Given the description of an element on the screen output the (x, y) to click on. 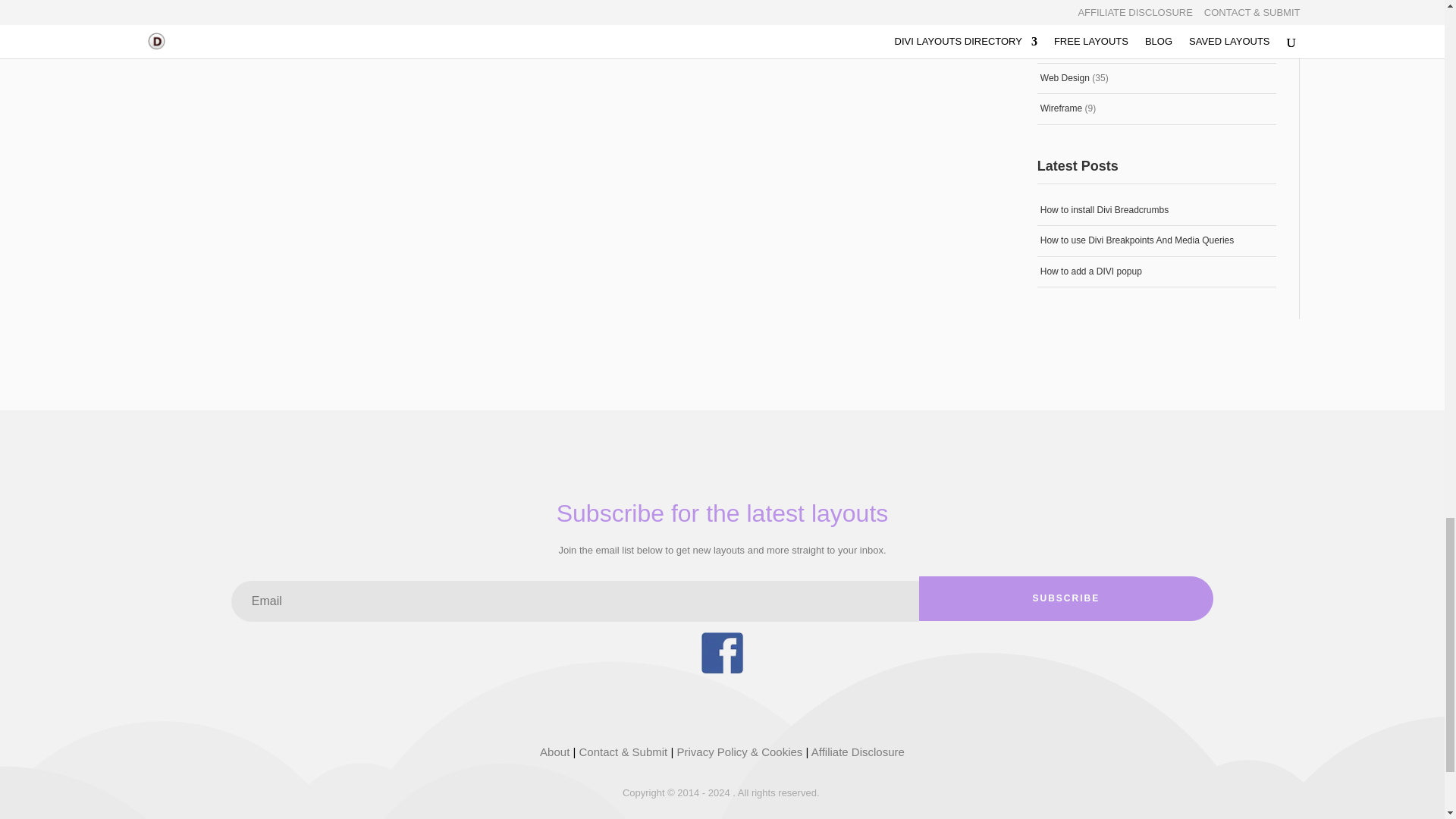
Divi Layouts Facebook group (721, 669)
